Given the description of an element on the screen output the (x, y) to click on. 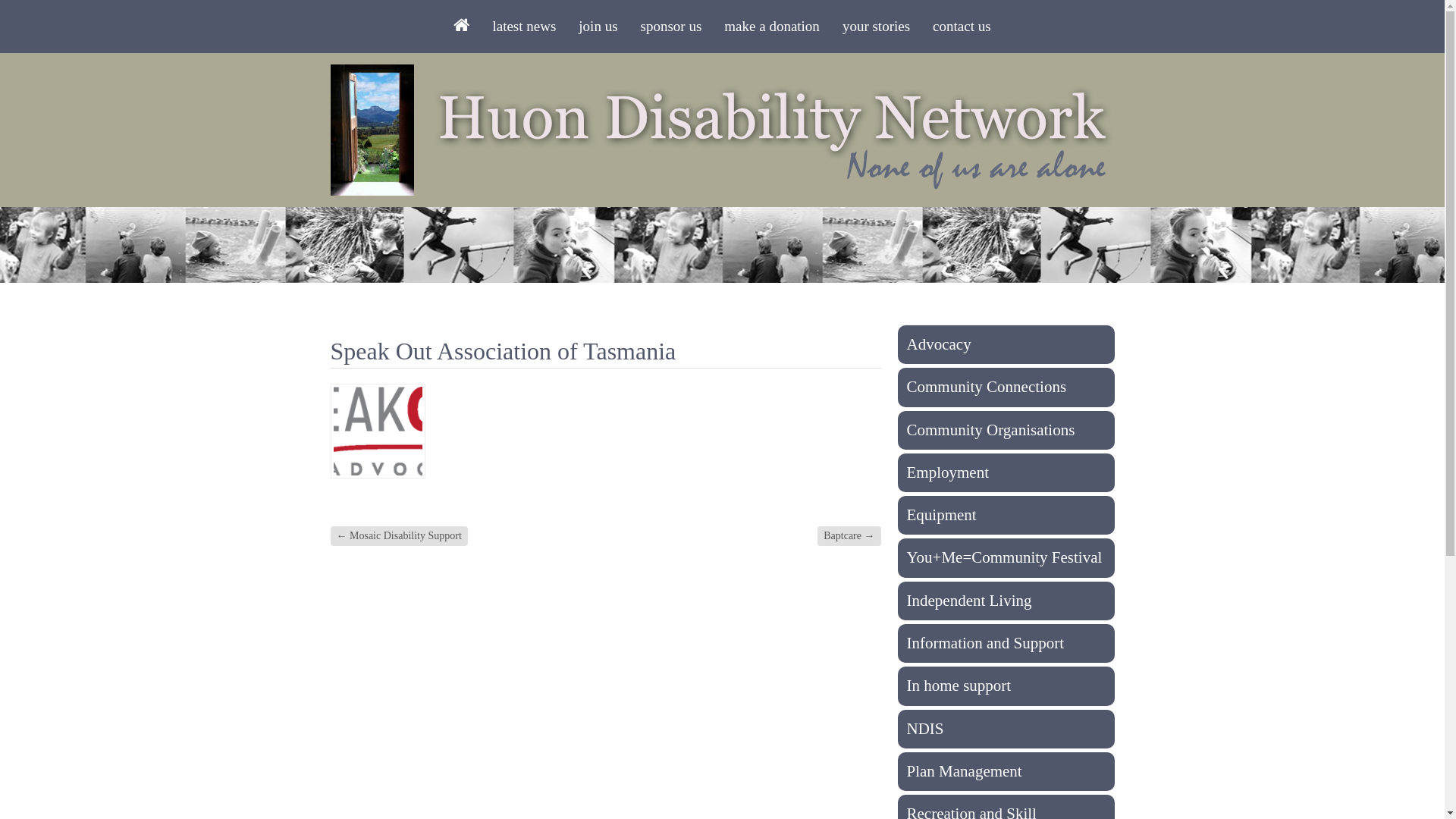
Plan Management Element type: text (1005, 771)
Community Connections Element type: text (1005, 386)
Equipment Element type: text (1005, 514)
Community Organisations Element type: text (1005, 430)
contact us Element type: text (961, 26)
your stories Element type: text (876, 26)
NDIS Element type: text (1005, 728)
sponsor us Element type: text (671, 26)
Employment Element type: text (1005, 472)
Advocacy Element type: text (1005, 344)
make a donation Element type: text (771, 26)
Independent Living Element type: text (1005, 600)
In home support Element type: text (1005, 685)
home Element type: text (461, 26)
latest news Element type: text (523, 26)
You+Me=Community Festival Element type: text (1005, 557)
Information and Support Element type: text (1005, 643)
join us Element type: text (597, 26)
